Given the description of an element on the screen output the (x, y) to click on. 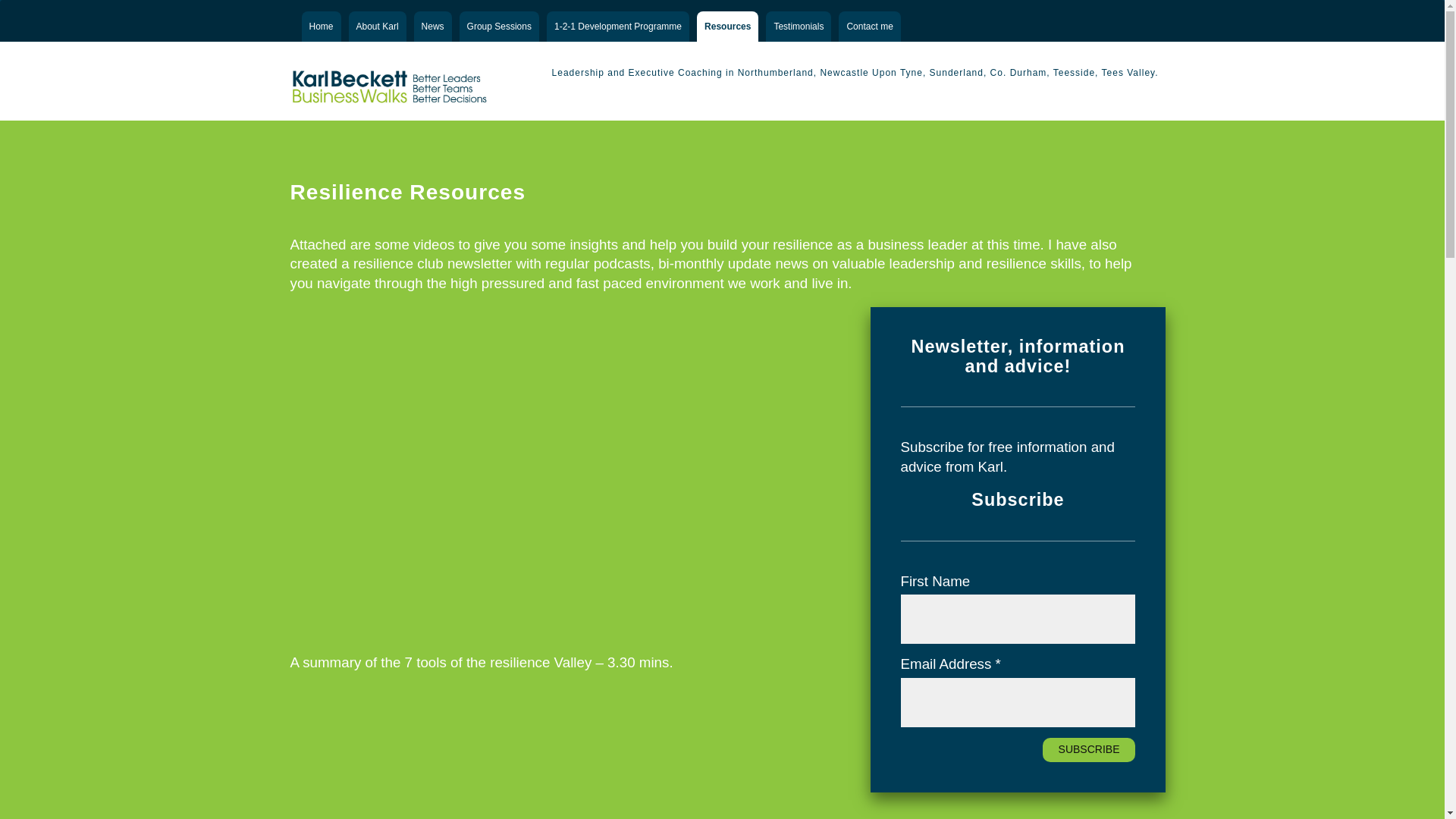
About Karl (377, 26)
1-2-1 Development Programme (617, 26)
Home (320, 26)
Subscribe (1088, 749)
Resources (727, 26)
Group Sessions (499, 26)
Clear your head with resilience and business coaching (389, 80)
News (432, 26)
Testimonials (798, 26)
Contact me (868, 26)
Subscribe (1088, 749)
